Given the description of an element on the screen output the (x, y) to click on. 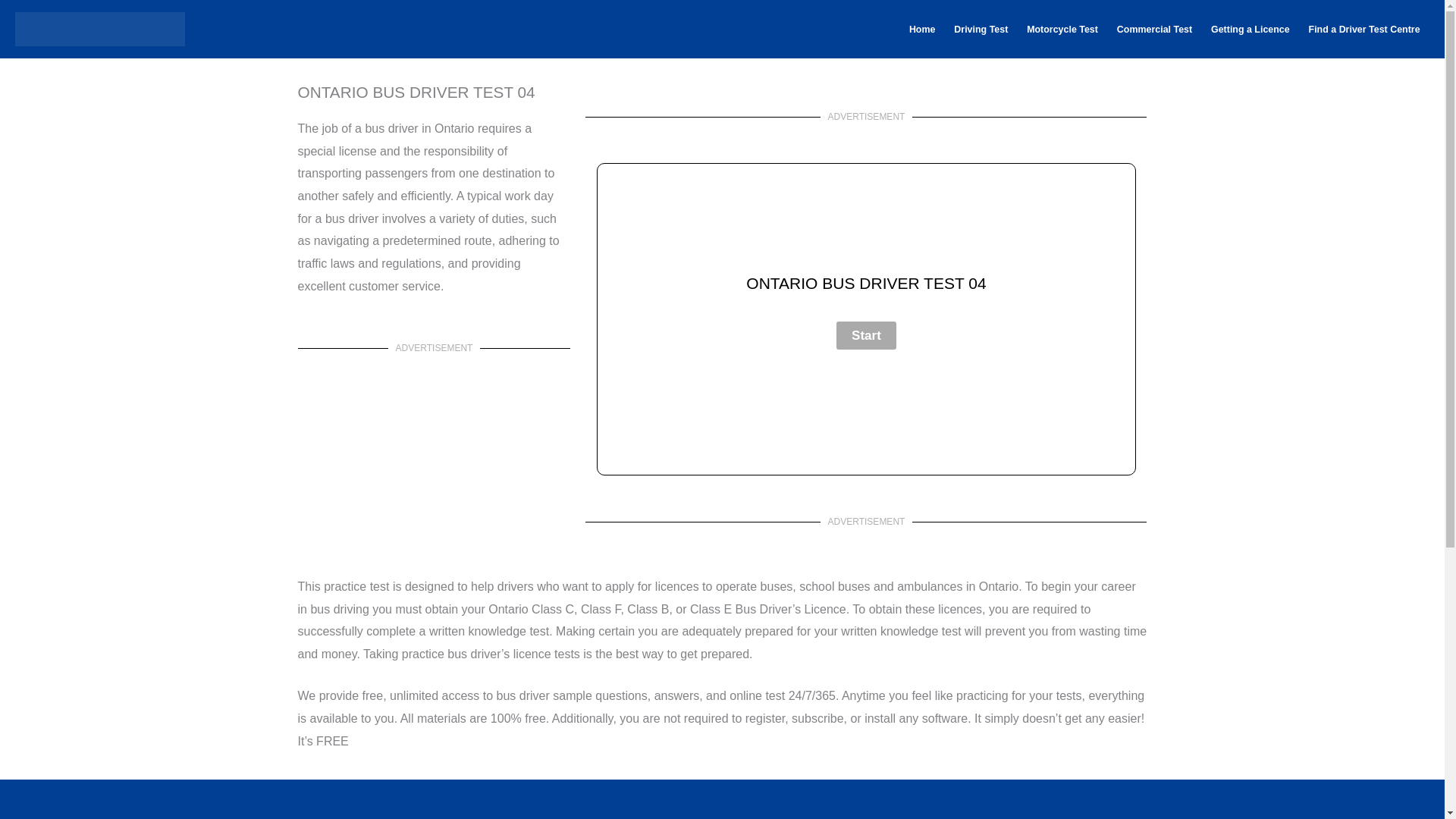
Start (865, 335)
Driving Test (980, 29)
Motorcycle Test (1062, 29)
Commercial Test (1153, 29)
Find a Driver Test Centre (1363, 29)
Getting a Licence (1251, 29)
